Given the description of an element on the screen output the (x, y) to click on. 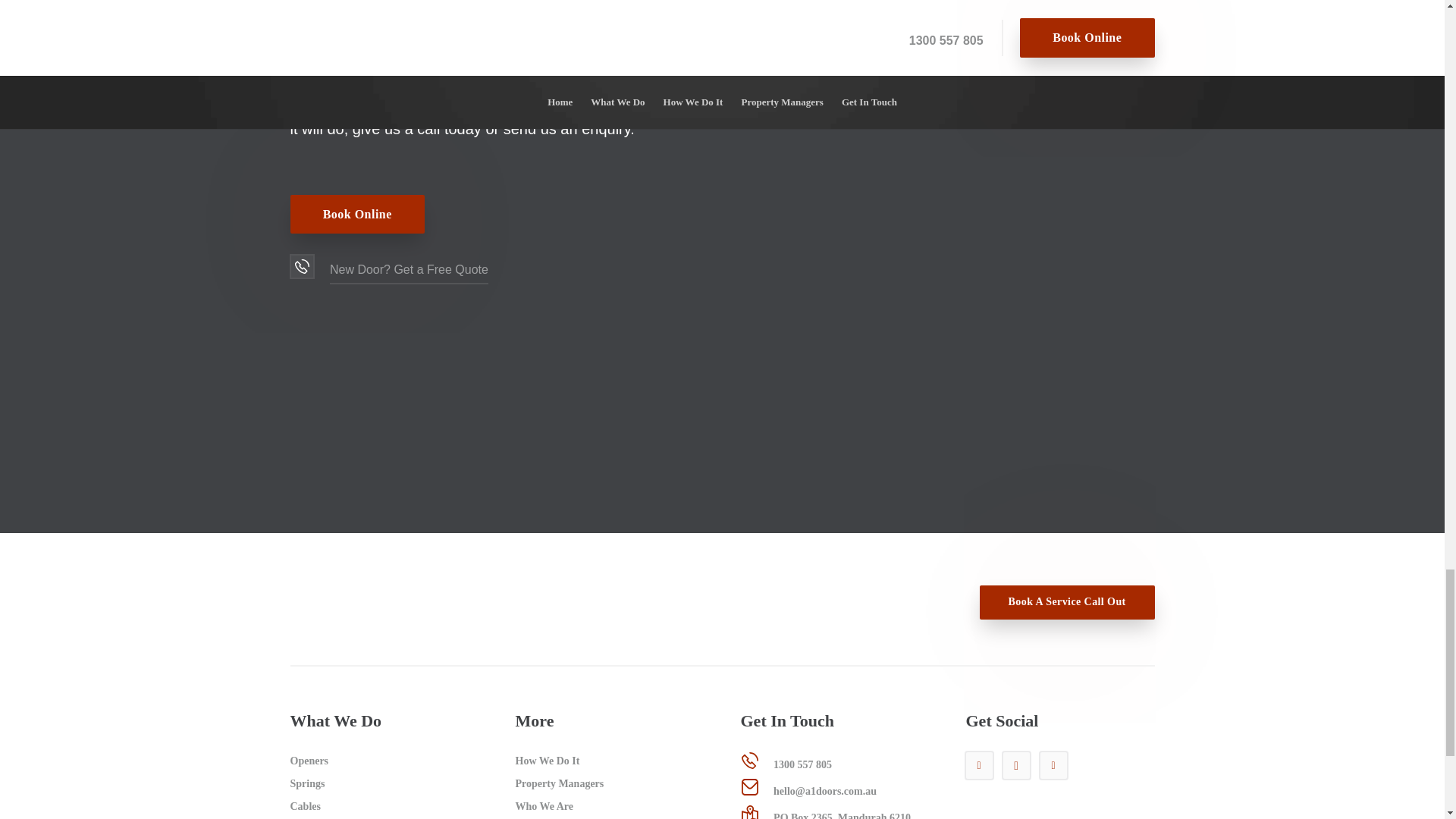
Facebook (1054, 765)
Book Online (356, 213)
Instagram (1016, 765)
YouTube (979, 765)
